Given the description of an element on the screen output the (x, y) to click on. 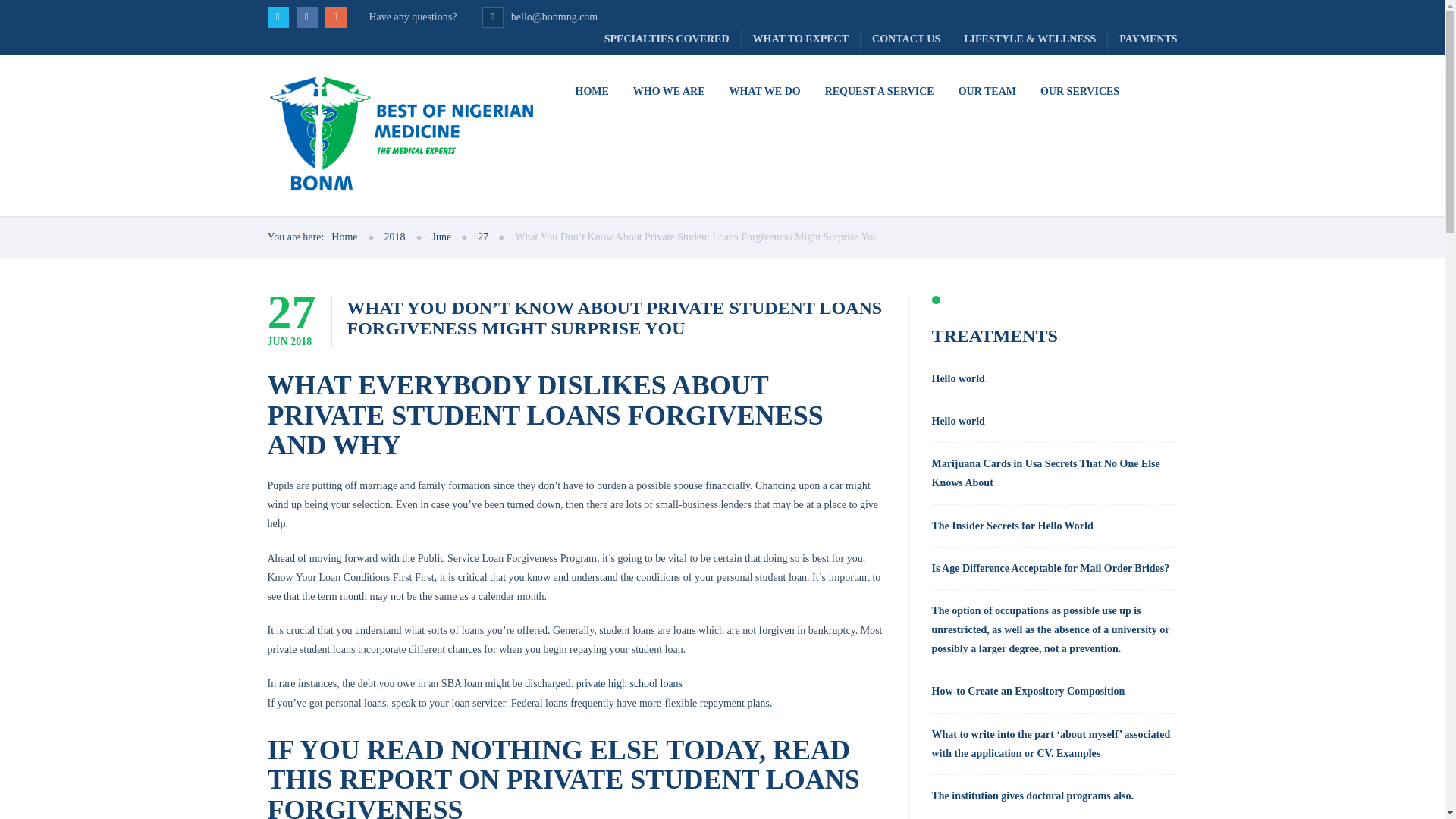
private high school loans (629, 683)
OUR SERVICES (1079, 91)
27 (482, 236)
Is Age Difference Acceptable for Mail Order Brides? (1053, 568)
Hello world (1053, 378)
PAYMENTS (1142, 38)
HOME (591, 91)
The institution gives doctoral programs also. (1053, 795)
WHO WE ARE (669, 91)
CONTACT US (906, 38)
June (441, 236)
WHAT TO EXPECT (801, 38)
OUR TEAM (986, 91)
Marijuana Cards in Usa Secrets That No One Else Knows About (1053, 473)
